Given the description of an element on the screen output the (x, y) to click on. 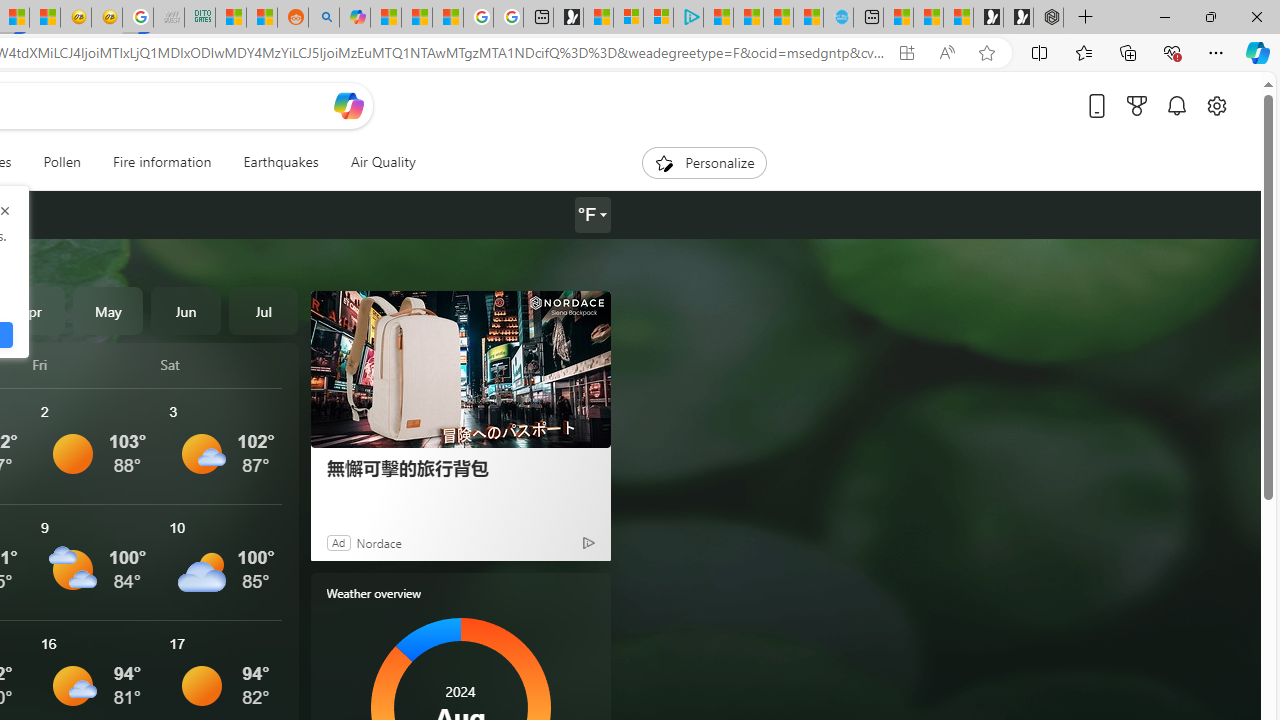
Pollen (61, 162)
Utah sues federal government - Search (323, 17)
Air Quality (382, 162)
Earthquakes (280, 162)
Earthquakes (280, 162)
May (107, 310)
